Given the description of an element on the screen output the (x, y) to click on. 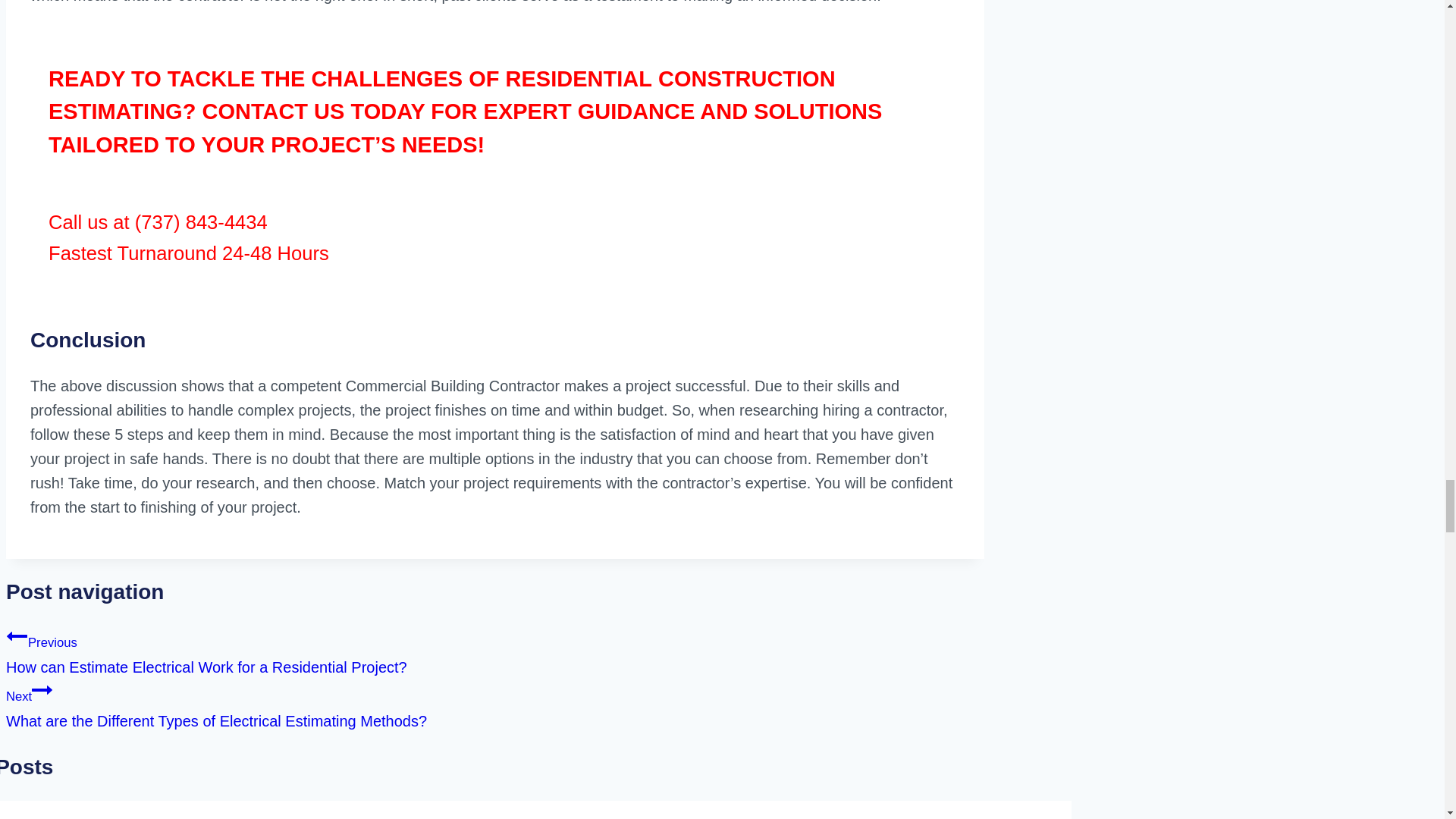
Previous (16, 636)
Continue (42, 690)
